Given the description of an element on the screen output the (x, y) to click on. 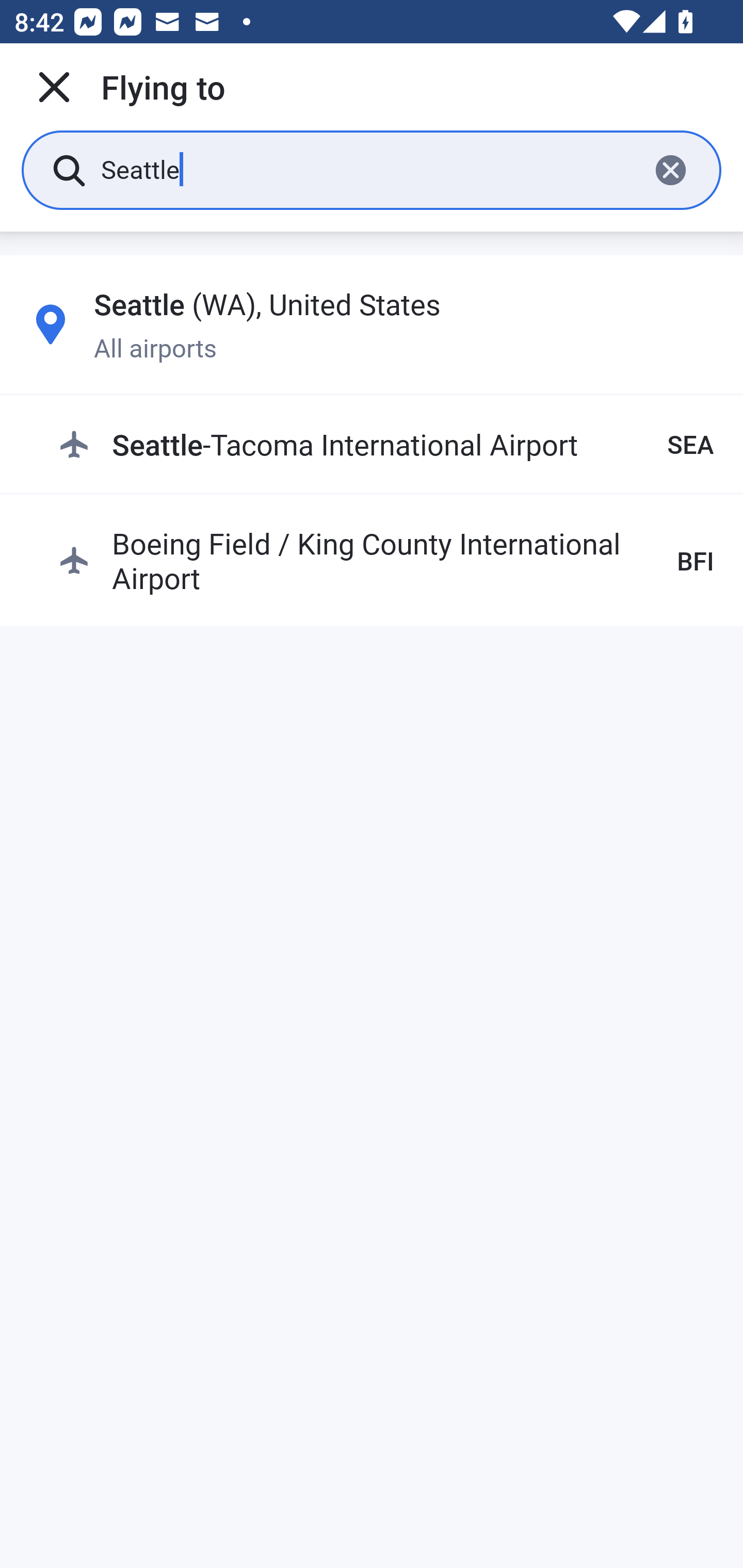
Seattle (367, 169)
Seattle (WA), United States All airports (371, 324)
Seattle-Tacoma International Airport SEA (385, 444)
